Given the description of an element on the screen output the (x, y) to click on. 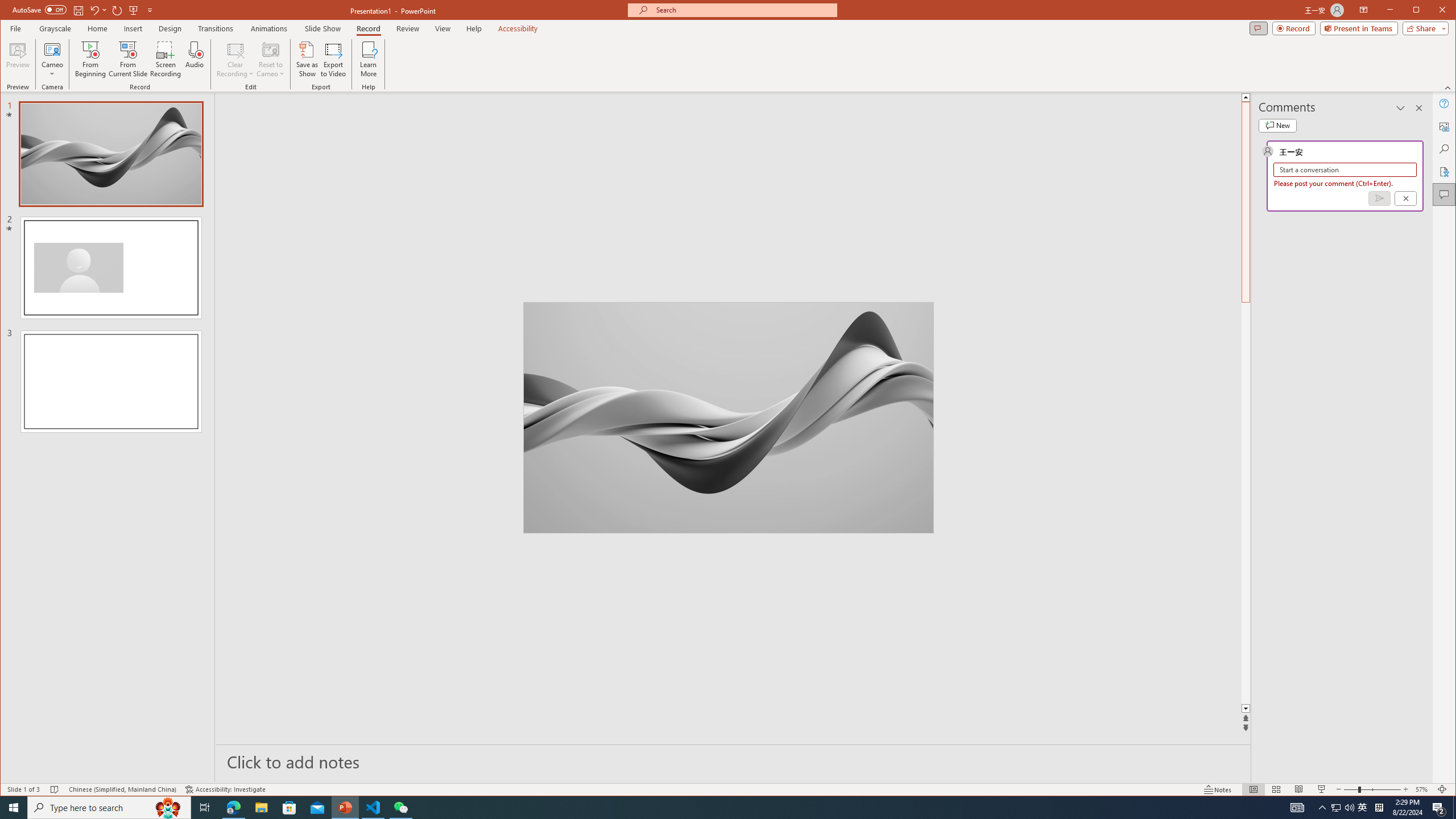
Start a conversation (1344, 169)
Export to Video (333, 59)
